Given the description of an element on the screen output the (x, y) to click on. 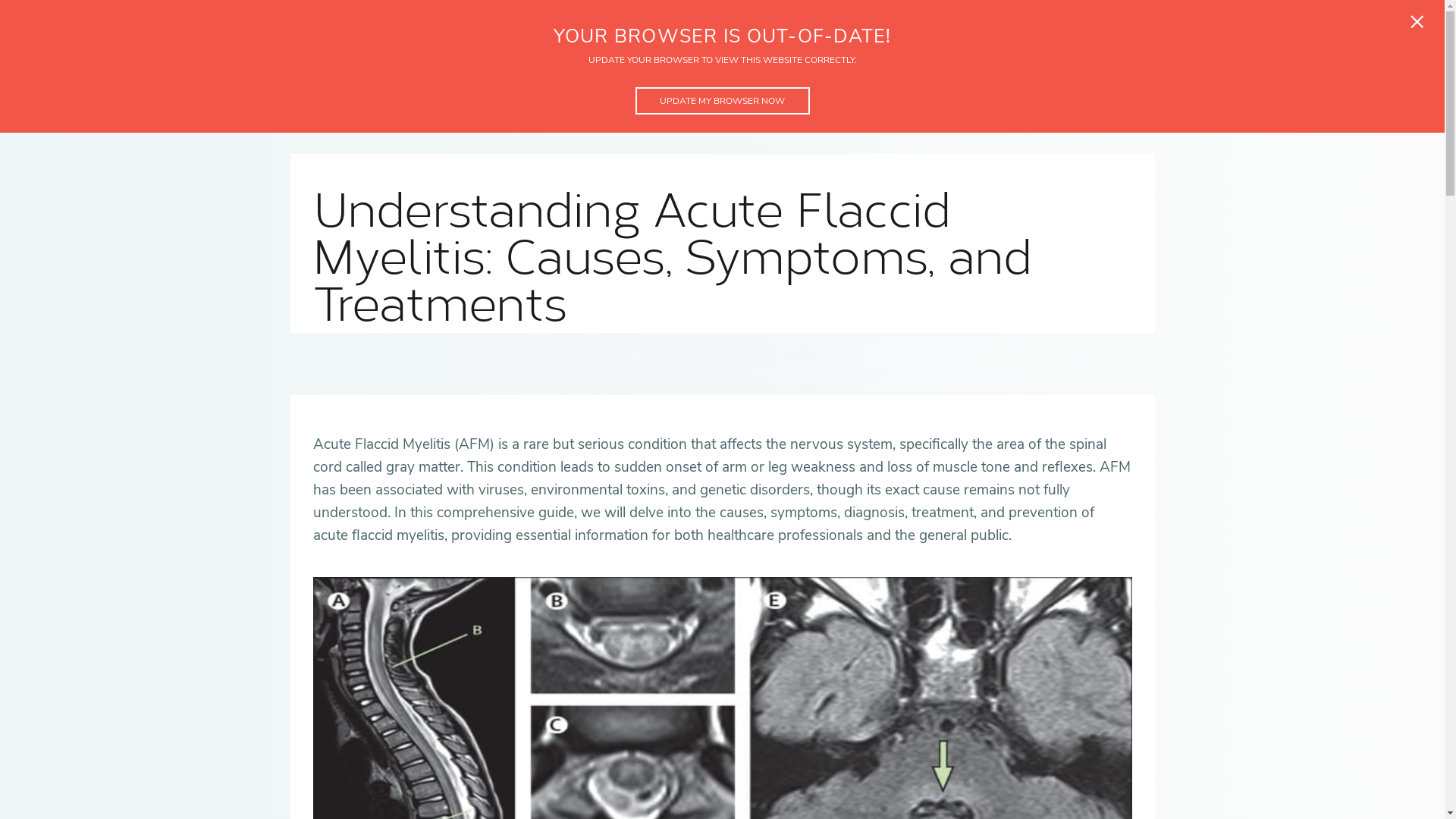
STORIES (736, 67)
Learning Center (622, 12)
bioLytical (498, 12)
For Providers (378, 12)
INSTI TIMES (862, 67)
Contact Us (752, 12)
UPDATE MY BROWSER NOW (721, 100)
